Given the description of an element on the screen output the (x, y) to click on. 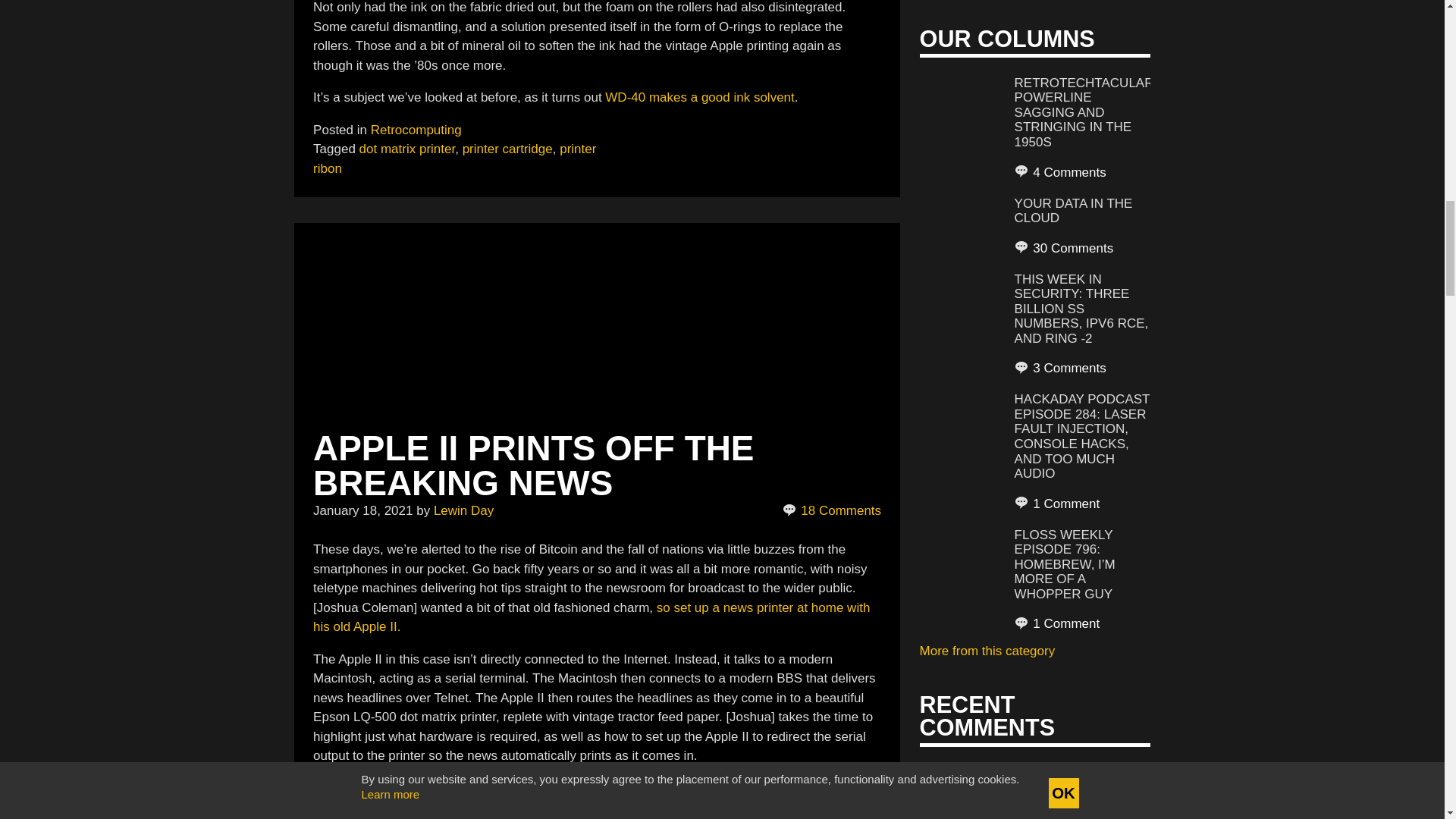
Retrocomputing (416, 129)
January 18, 2021 (362, 510)
January 18, 2021 - 10:00 pm (362, 510)
Posts by Lewin Day (463, 510)
printer ribon (454, 158)
WD-40 makes a good ink solvent (699, 97)
APPLE II PRINTS OFF THE BREAKING NEWS (533, 465)
printer cartridge (508, 148)
dot matrix printer (407, 148)
